Given the description of an element on the screen output the (x, y) to click on. 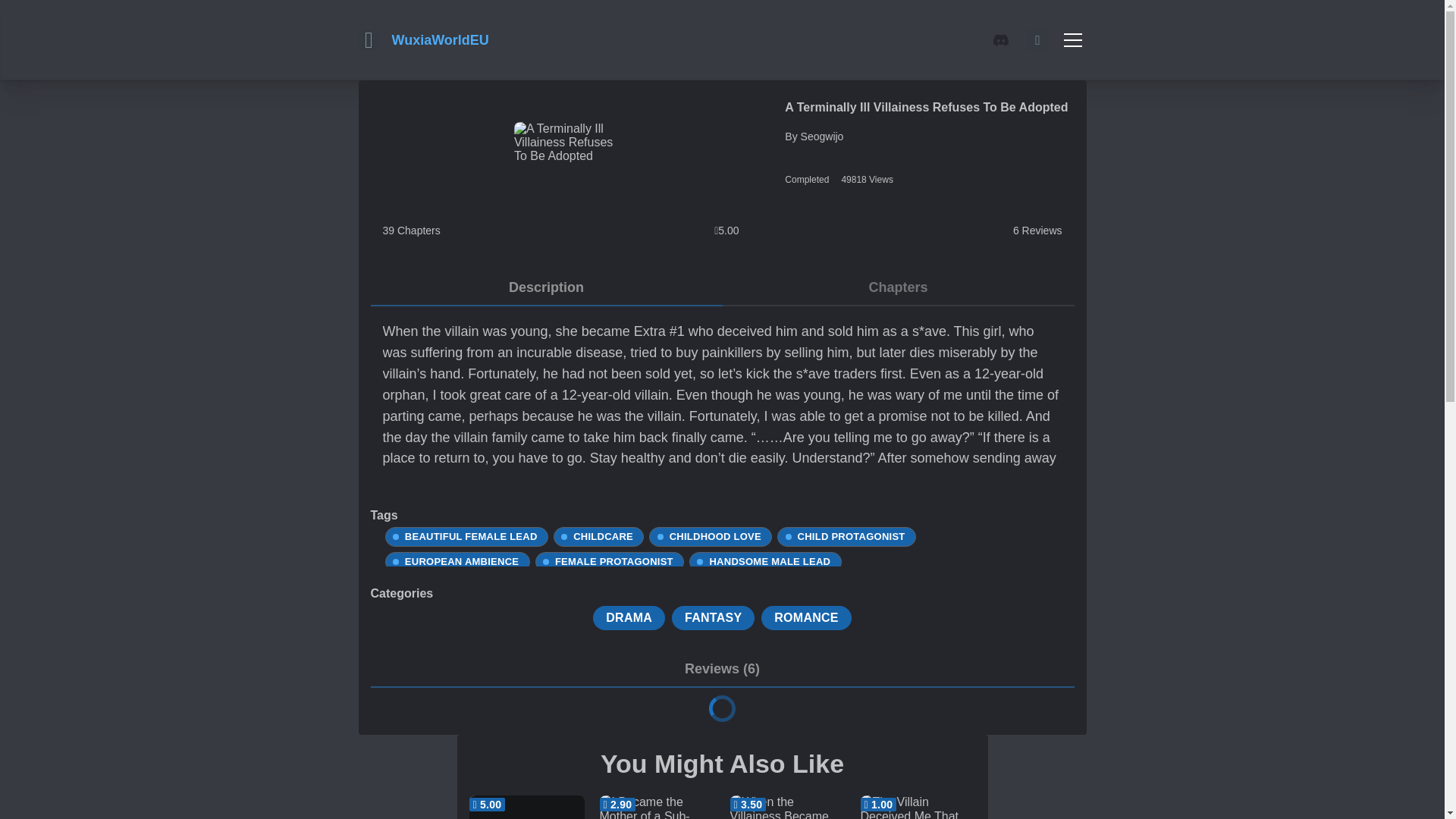
Description (545, 288)
FEMALE PROTAGONIST (609, 561)
HANDSOME MALE LEAD (765, 561)
The Sickly Youngest Member of the Villainous Family (525, 807)
Chapters (898, 288)
CHILD PROTAGONIST (846, 536)
FANTASY (712, 617)
DRAMA (628, 617)
EUROPEAN AMBIENCE (456, 561)
CHILDCARE (598, 536)
BEAUTIFUL FEMALE LEAD (465, 536)
ROMANCE (805, 617)
CHILDHOOD LOVE (710, 536)
